Given the description of an element on the screen output the (x, y) to click on. 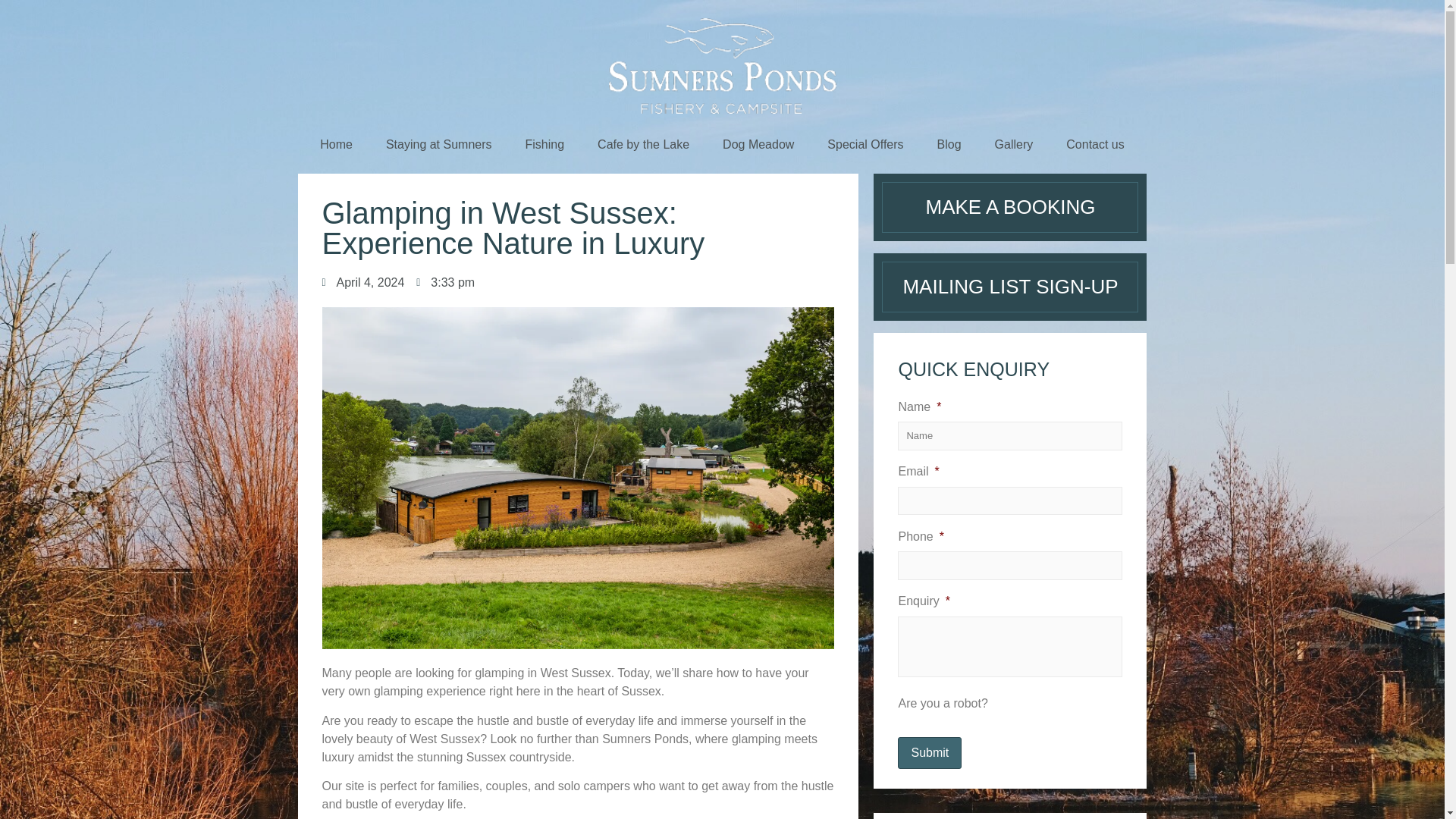
Fishing (545, 144)
Contact us (1094, 144)
Special Offers (865, 144)
Home (336, 144)
Staying at Sumners (438, 144)
Cafe by the Lake (643, 144)
Submit (929, 753)
Dog Meadow (758, 144)
Blog (948, 144)
Gallery (1013, 144)
